Given the description of an element on the screen output the (x, y) to click on. 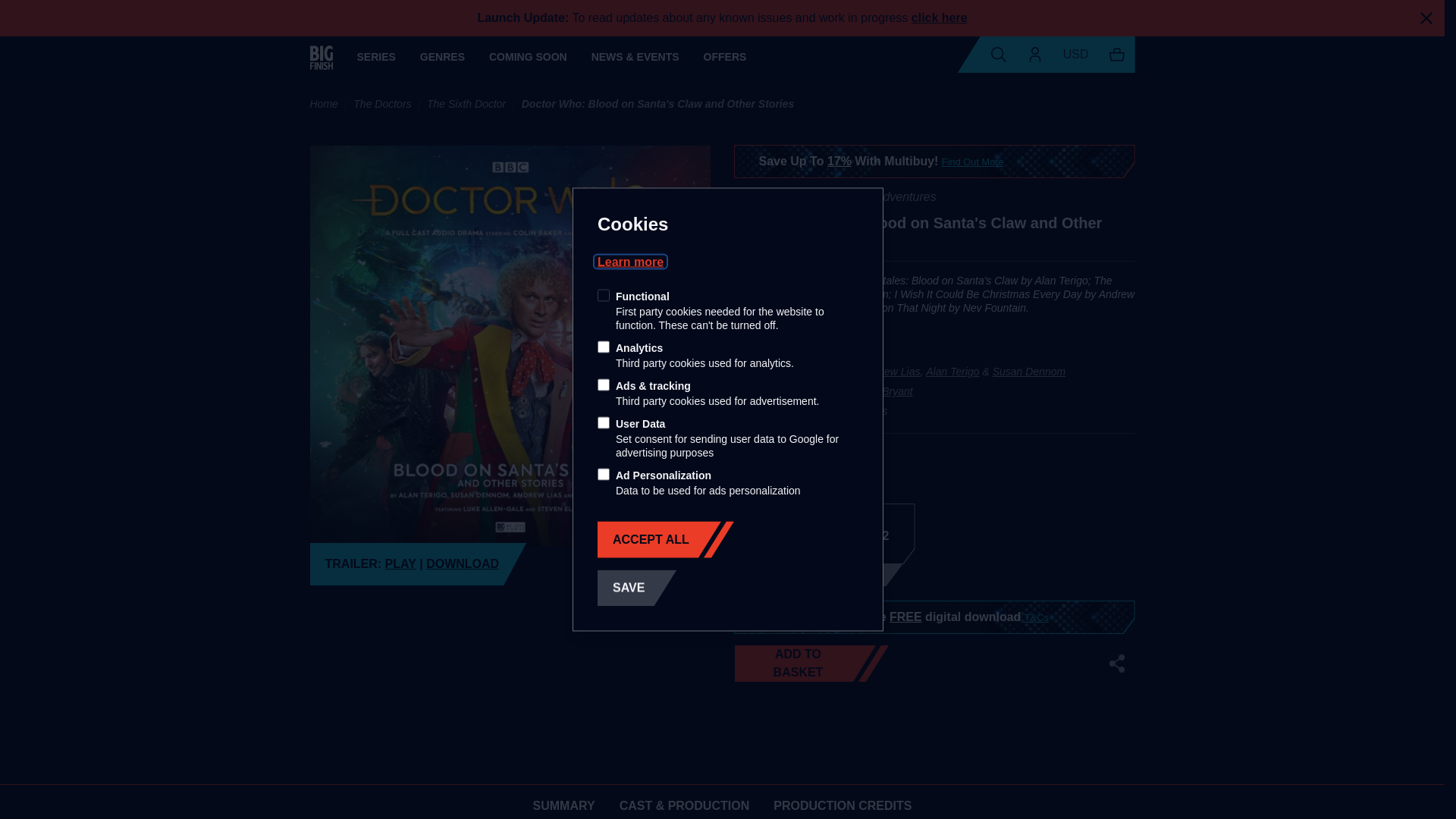
SAVE (636, 588)
on (603, 346)
click here (939, 17)
SERIES (375, 57)
on (603, 474)
on (603, 385)
Learn more (630, 260)
on (603, 295)
on (603, 422)
ACCEPT ALL (647, 539)
